Given the description of an element on the screen output the (x, y) to click on. 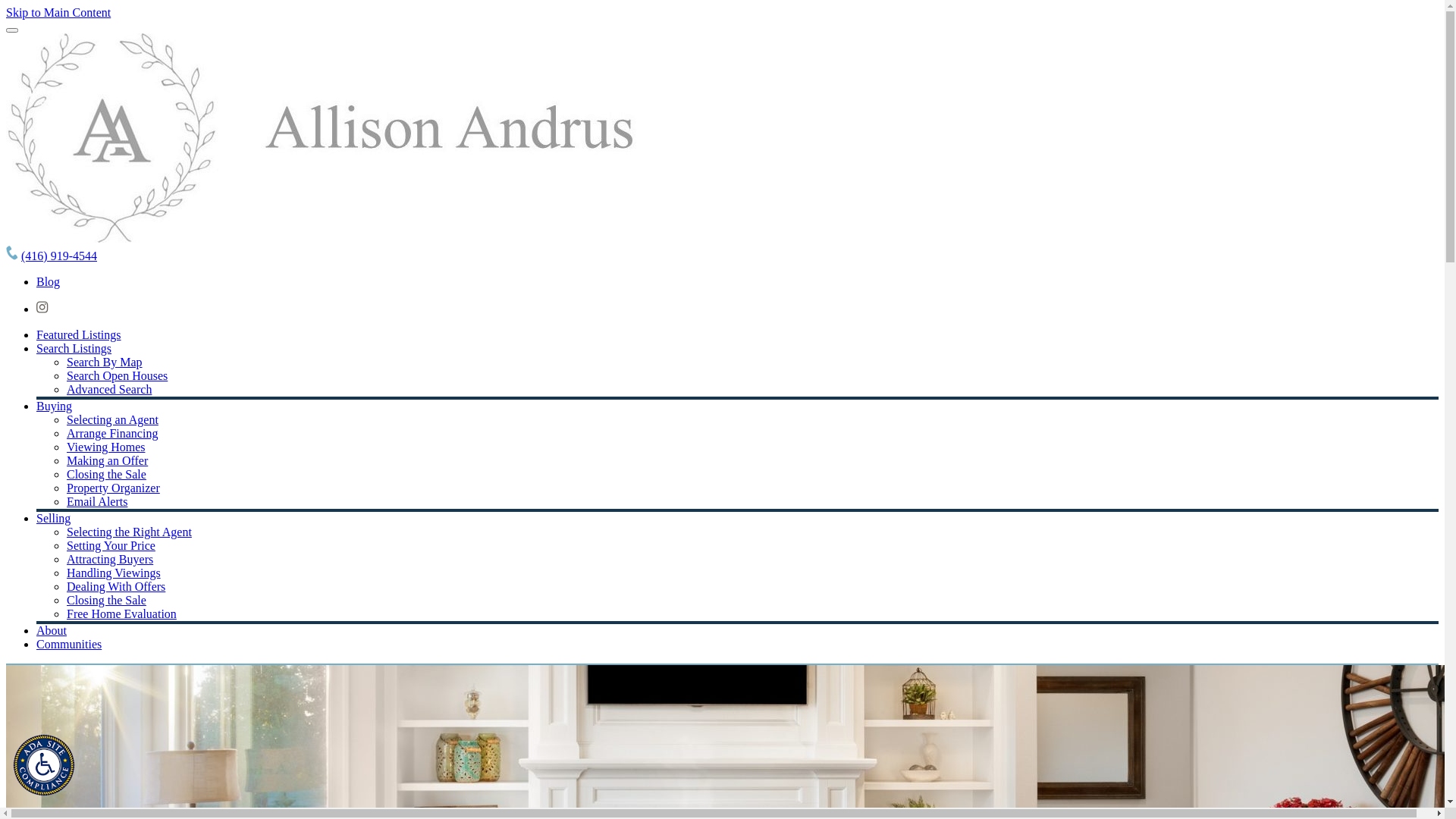
Dealing With Offers Element type: text (115, 586)
Attracting Buyers Element type: text (109, 558)
Selecting the Right Agent Element type: text (128, 531)
Viewing Homes Element type: text (105, 446)
Arrange Financing Element type: text (111, 432)
Communities Element type: text (68, 643)
Handling Viewings Element type: text (113, 572)
About Element type: text (51, 630)
Search Open Houses Element type: text (116, 375)
Closing the Sale Element type: text (106, 473)
Search Listings Element type: text (73, 348)
Selling Element type: text (53, 517)
Accessibility Menu Element type: hover (47, 768)
Free Home Evaluation Element type: text (121, 613)
Email Alerts Element type: text (96, 501)
Skip to Main Content Element type: text (58, 12)
(416) 919-4544 Element type: text (59, 255)
Search By Map Element type: text (104, 361)
Buying Element type: text (54, 405)
Featured Listings Element type: text (78, 334)
Advanced Search Element type: text (108, 388)
Accessibility Menu Element type: hover (43, 765)
Selecting an Agent Element type: text (112, 419)
Making an Offer Element type: text (106, 460)
Closing the Sale Element type: text (106, 599)
Property Organizer Element type: text (113, 487)
Setting Your Price Element type: text (110, 545)
Blog Element type: text (47, 281)
